Given the description of an element on the screen output the (x, y) to click on. 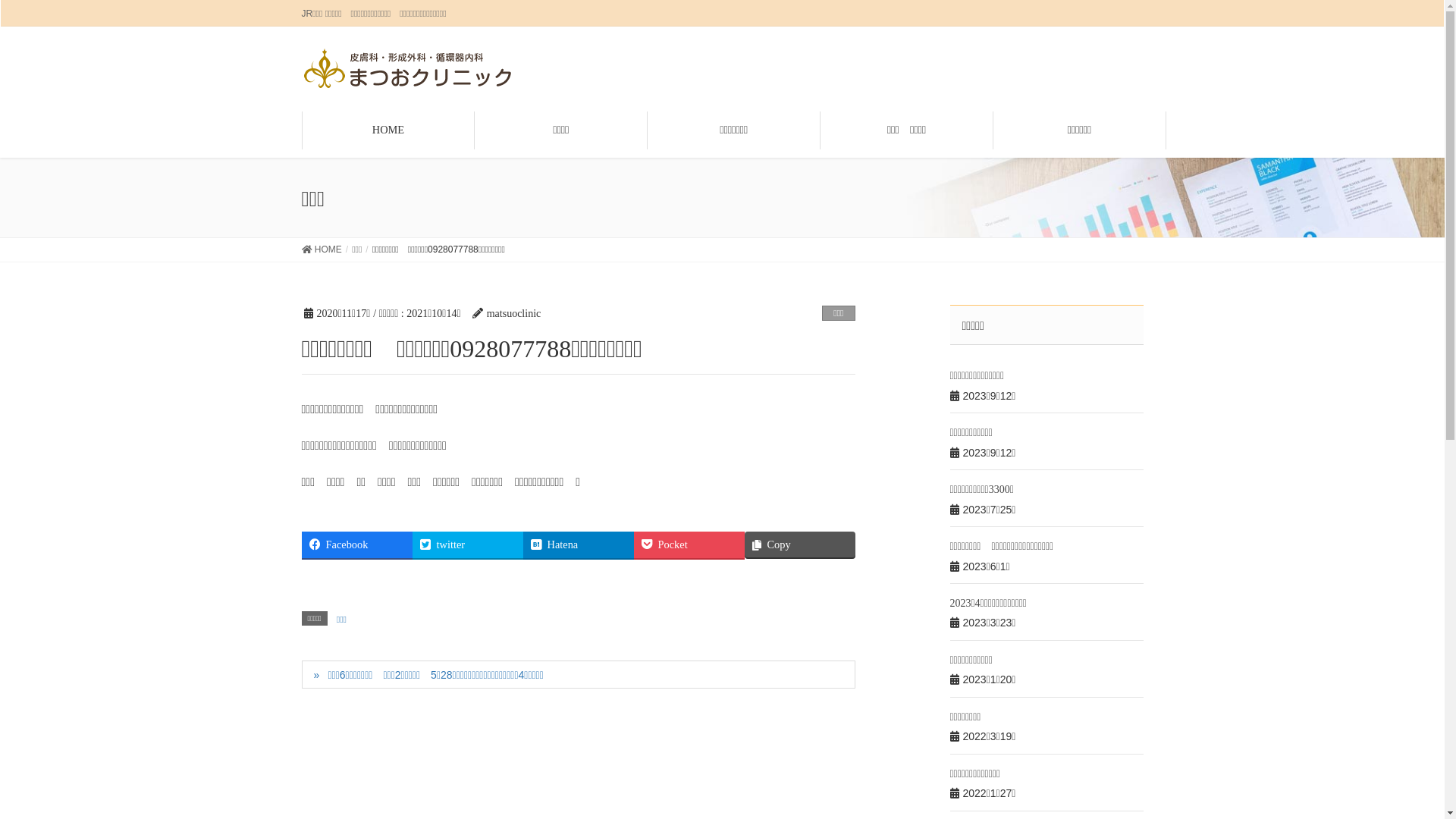
twitter Element type: text (467, 544)
Copy Element type: text (799, 544)
HOME Element type: text (321, 250)
HOME Element type: text (387, 130)
Pocket Element type: text (688, 544)
Hatena Element type: text (578, 544)
Facebook Element type: text (356, 544)
